Given the description of an element on the screen output the (x, y) to click on. 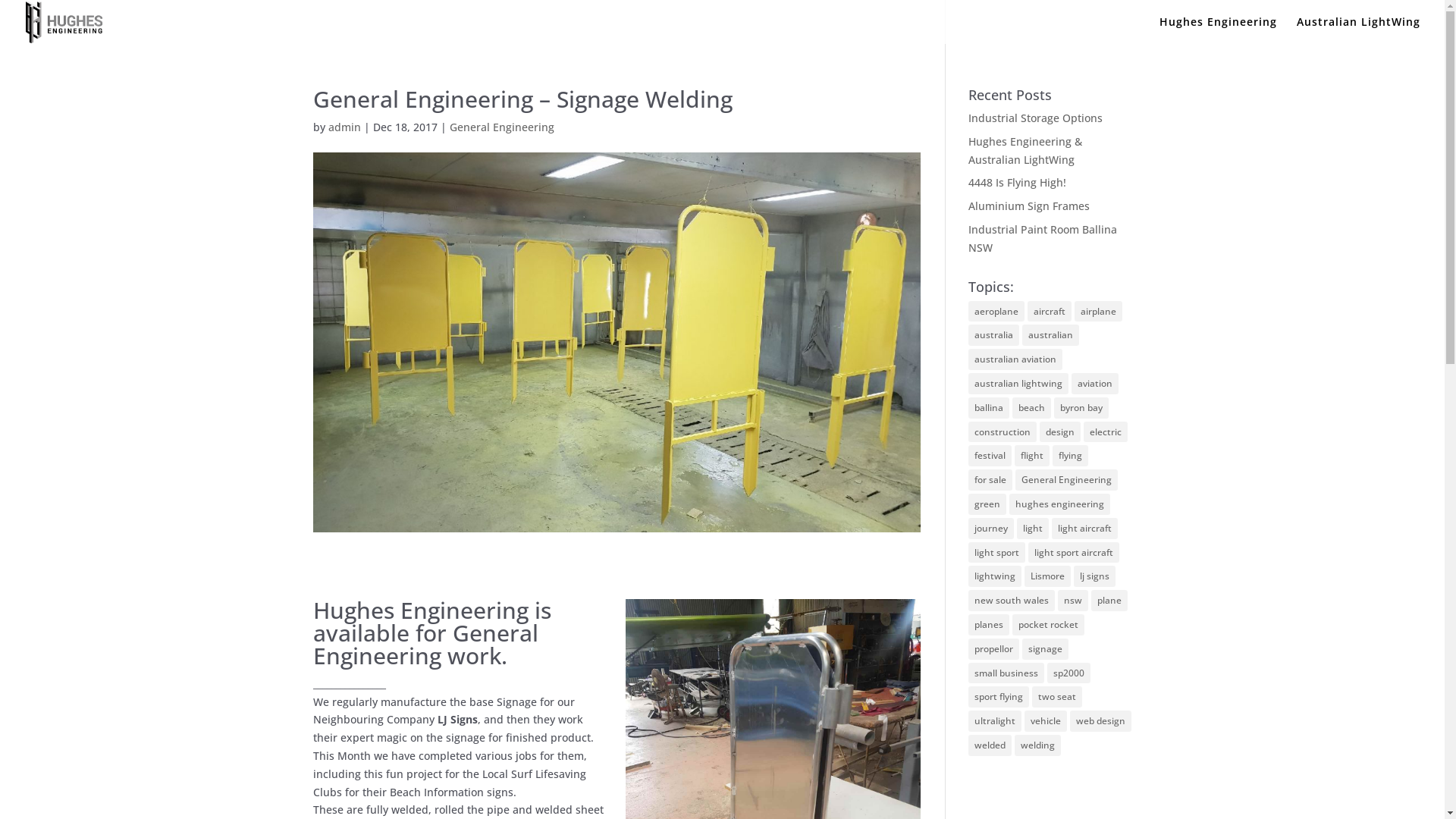
design Element type: text (1059, 431)
vehicle Element type: text (1045, 720)
Hughes Engineering Element type: text (1218, 29)
lj signs Element type: text (1094, 575)
sp2000 Element type: text (1068, 673)
australian aviation Element type: text (1015, 359)
australian Element type: text (1050, 334)
Australian LightWing Element type: text (1358, 29)
electric Element type: text (1105, 431)
beach Element type: text (1031, 407)
construction Element type: text (1002, 431)
for sale Element type: text (990, 479)
australian lightwing Element type: text (1018, 383)
Industrial Paint Room Ballina NSW Element type: text (1042, 238)
small business Element type: text (1006, 673)
Industrial Storage Options Element type: text (1035, 117)
light Element type: text (1032, 528)
flying Element type: text (1070, 455)
welding Element type: text (1037, 745)
flight Element type: text (1031, 455)
new south wales Element type: text (1011, 600)
4448 Is Flying High! Element type: text (1017, 182)
ballina Element type: text (988, 407)
Lismore Element type: text (1047, 575)
aircraft Element type: text (1049, 311)
signage Element type: text (1045, 648)
welded Element type: text (989, 745)
festival Element type: text (989, 455)
nsw Element type: text (1072, 600)
australia Element type: text (993, 334)
byron bay Element type: text (1081, 407)
airplane Element type: text (1098, 311)
Hughes Engineering & Australian LightWing Element type: text (1025, 150)
planes Element type: text (988, 624)
plane Element type: text (1109, 600)
pocket rocket Element type: text (1048, 624)
light aircraft Element type: text (1084, 528)
aviation Element type: text (1094, 383)
sport flying Element type: text (998, 696)
two seat Element type: text (1057, 696)
lightwing Element type: text (994, 575)
General Engineering Element type: text (1066, 479)
light sport Element type: text (996, 552)
General Engineering Element type: text (500, 126)
ultralight Element type: text (994, 720)
web design Element type: text (1100, 720)
Aluminium Sign Frames Element type: text (1028, 205)
hughes engineering Element type: text (1059, 503)
admin Element type: text (343, 126)
journey Element type: text (990, 528)
propellor Element type: text (993, 648)
light sport aircraft Element type: text (1073, 552)
green Element type: text (987, 503)
aeroplane Element type: text (996, 311)
